Given the description of an element on the screen output the (x, y) to click on. 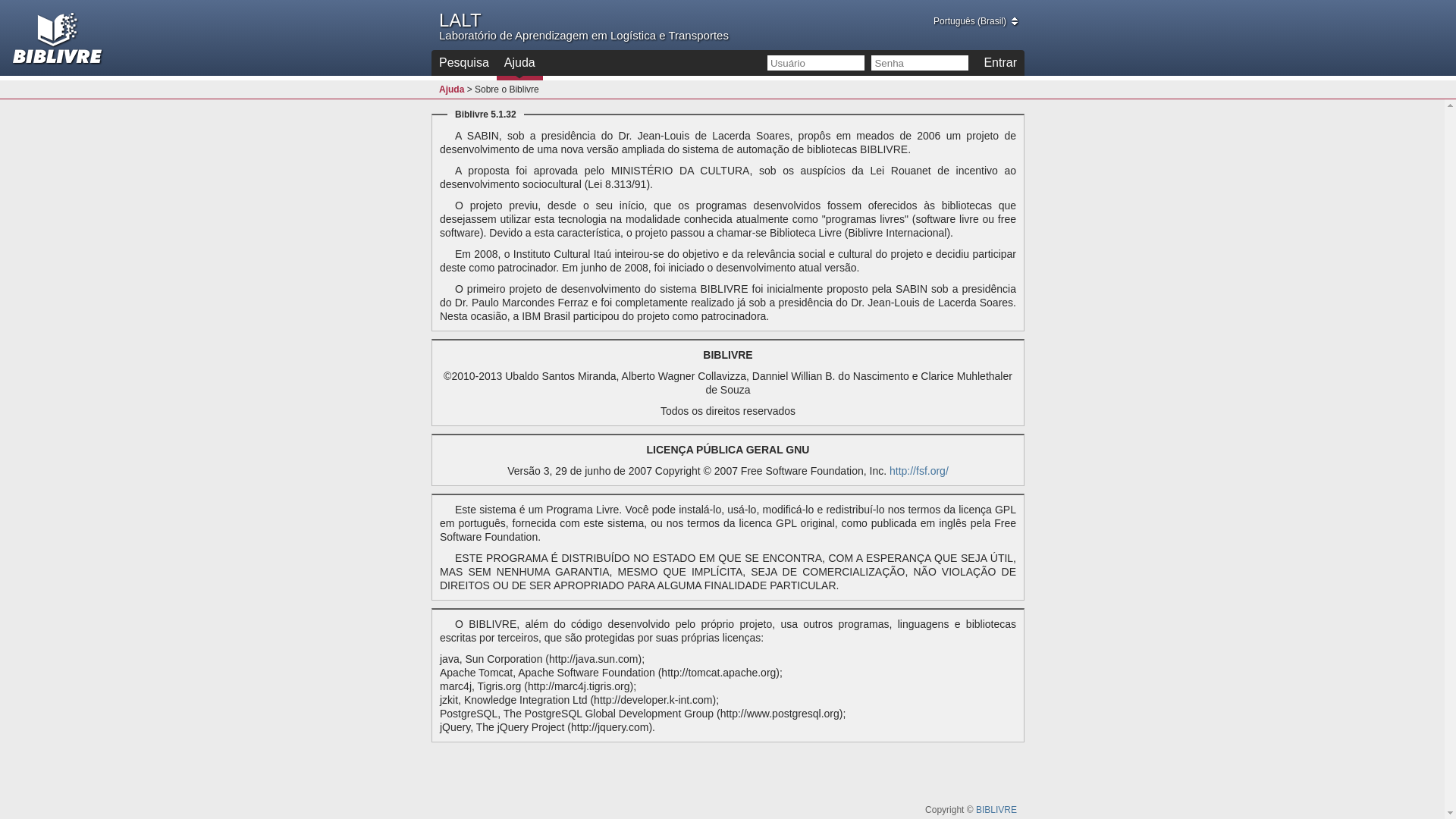
Biblivre V Element type: hover (56, 37)
LALT Element type: text (460, 19)
http://fsf.org/ Element type: text (918, 470)
Entrar Element type: text (999, 62)
BIBLIVRE Element type: text (995, 809)
